Given the description of an element on the screen output the (x, y) to click on. 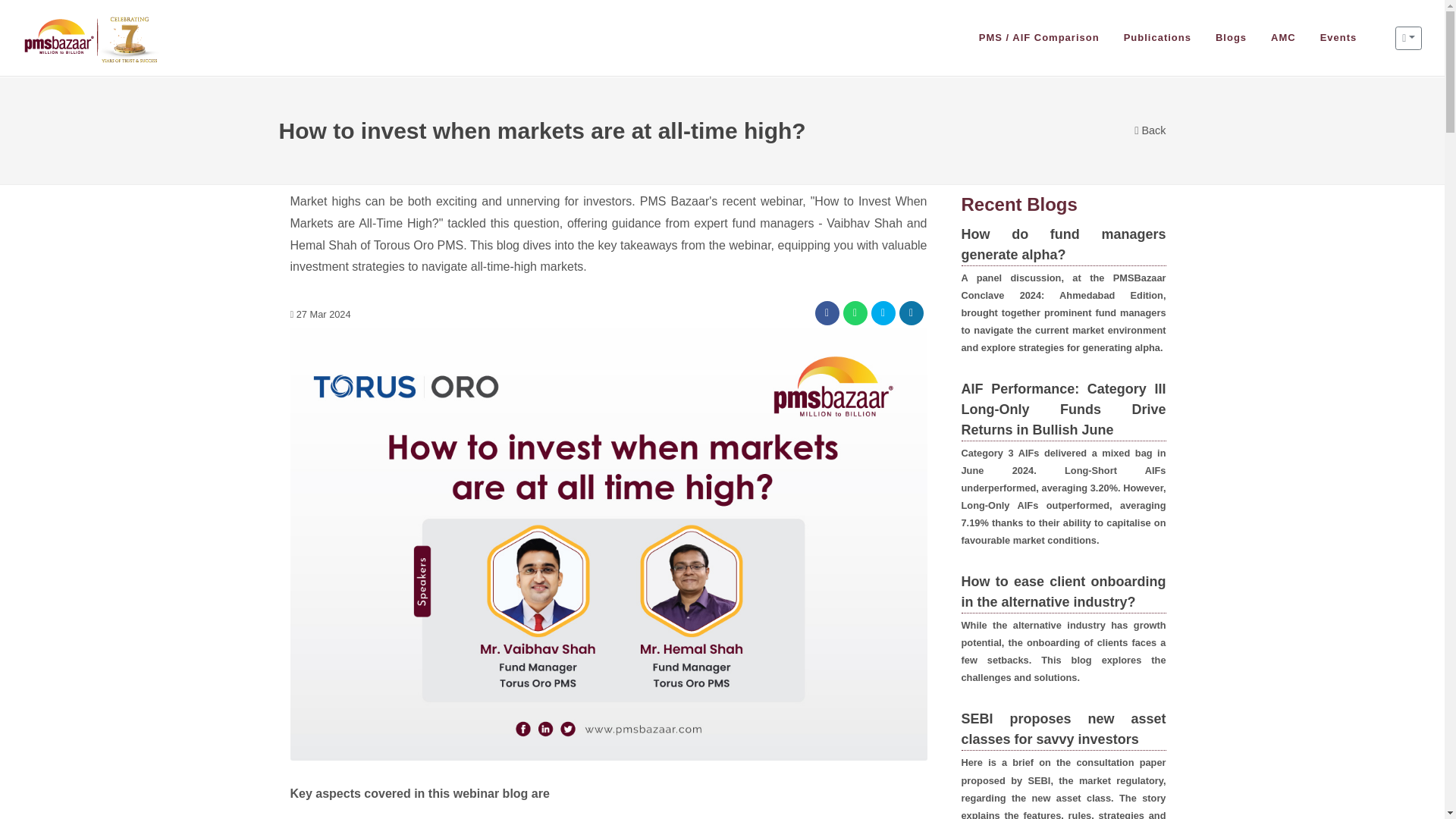
Facebook (825, 313)
Publications (1157, 38)
Publications (1157, 38)
Back (1150, 130)
share on Linkedin (911, 313)
share on Twitter (882, 313)
How to ease client onboarding in the alternative industry? (1063, 592)
SEBI proposes new asset classes for savvy investors (1063, 730)
share on WhatsApp (855, 313)
How do fund managers generate alpha? (1063, 245)
